Given the description of an element on the screen output the (x, y) to click on. 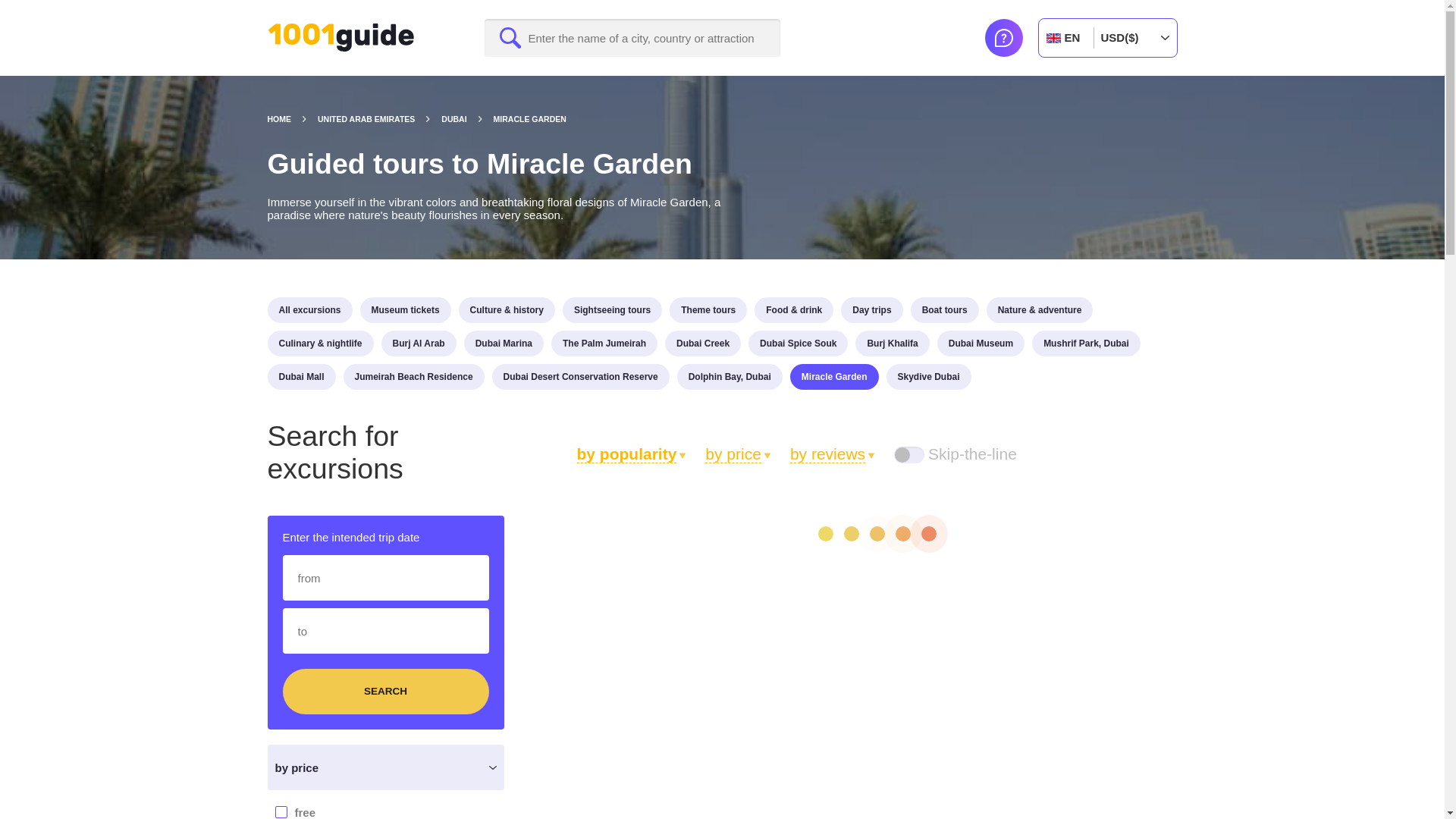
Dolphin Bay, Dubai (730, 376)
Museum tickets (405, 309)
Dubai Mall (300, 376)
Dubai Desert Conservation Reserve (580, 376)
DUBAI (467, 118)
Burj Khalifa (892, 343)
Help center (1003, 37)
UNITED ARAB EMIRATES (379, 118)
Skip-the-line (954, 453)
1001guide.com (340, 37)
by reviews (832, 453)
Day trips (871, 309)
Theme tours (707, 309)
HOME (291, 118)
Jumeirah Beach Residence (413, 376)
